Given the description of an element on the screen output the (x, y) to click on. 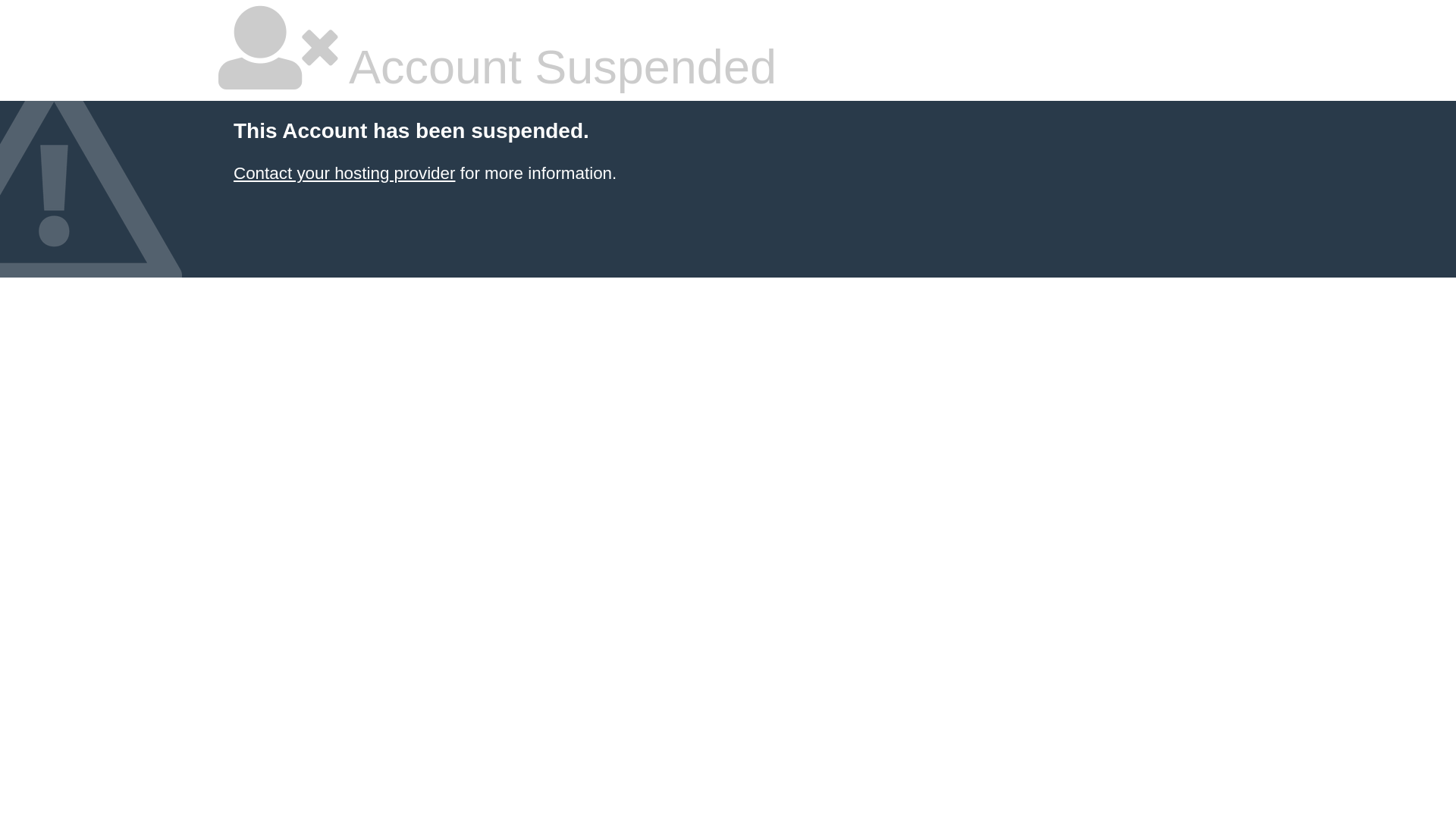
Contact your hosting provider Element type: text (344, 172)
